Given the description of an element on the screen output the (x, y) to click on. 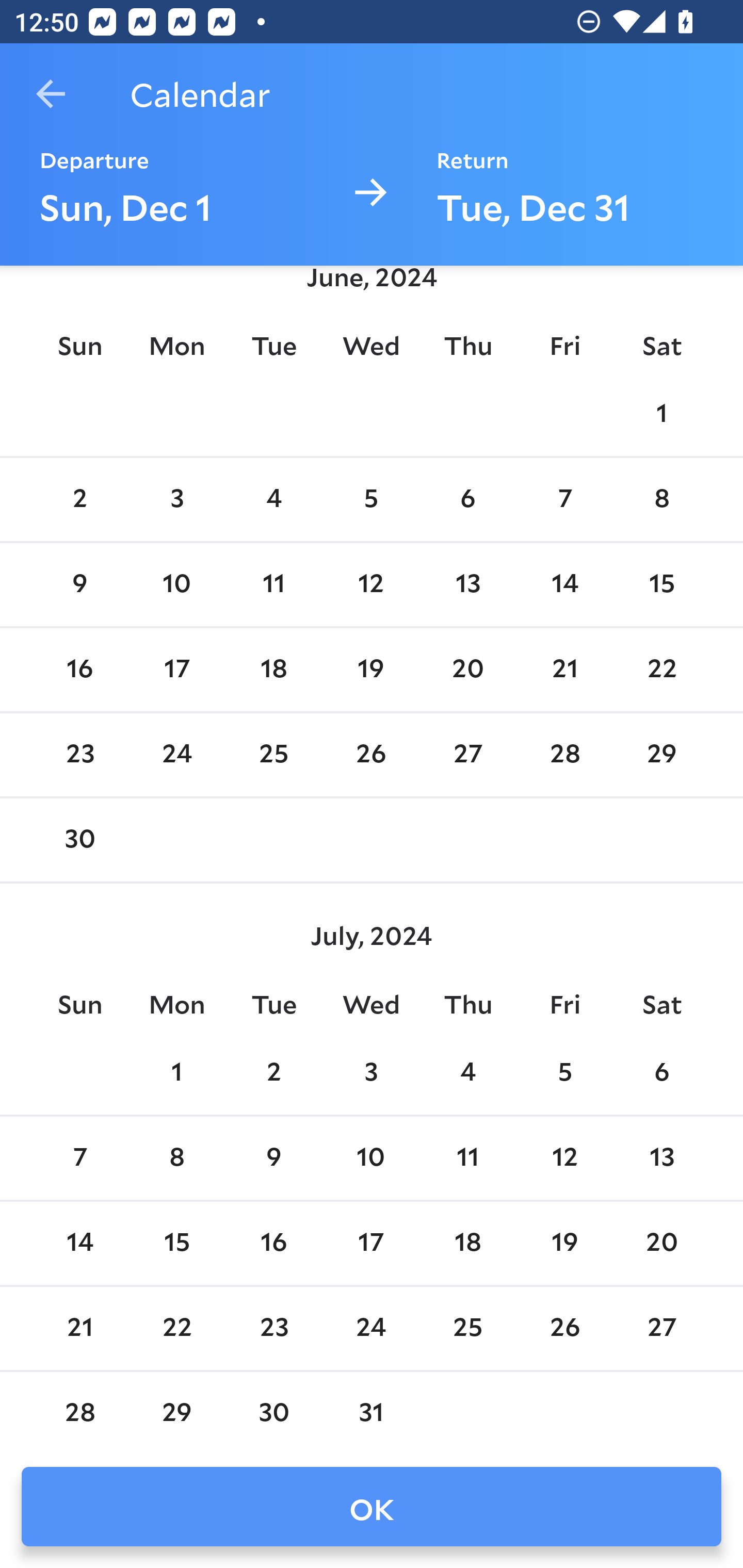
Navigate up (50, 93)
1 (661, 414)
2 (79, 500)
3 (177, 500)
4 (273, 500)
5 (371, 500)
6 (467, 500)
7 (565, 500)
8 (661, 500)
9 (79, 584)
10 (177, 584)
11 (273, 584)
12 (371, 584)
13 (467, 584)
14 (565, 584)
15 (661, 584)
16 (79, 669)
17 (177, 669)
18 (273, 669)
19 (371, 669)
20 (467, 669)
21 (565, 669)
22 (661, 669)
23 (79, 755)
24 (177, 755)
25 (273, 755)
26 (371, 755)
27 (467, 755)
28 (565, 755)
29 (661, 755)
30 (79, 840)
1 (177, 1074)
2 (273, 1074)
3 (371, 1074)
4 (467, 1074)
5 (565, 1074)
6 (661, 1074)
7 (79, 1158)
8 (177, 1158)
9 (273, 1158)
10 (371, 1158)
11 (467, 1158)
12 (565, 1158)
13 (661, 1158)
14 (79, 1243)
15 (177, 1243)
16 (273, 1243)
17 (371, 1243)
18 (467, 1243)
19 (565, 1243)
20 (661, 1243)
21 (79, 1328)
22 (177, 1328)
23 (273, 1328)
24 (371, 1328)
25 (467, 1328)
26 (565, 1328)
27 (661, 1328)
28 (79, 1411)
29 (177, 1411)
30 (273, 1411)
31 (371, 1411)
OK (371, 1506)
